Given the description of an element on the screen output the (x, y) to click on. 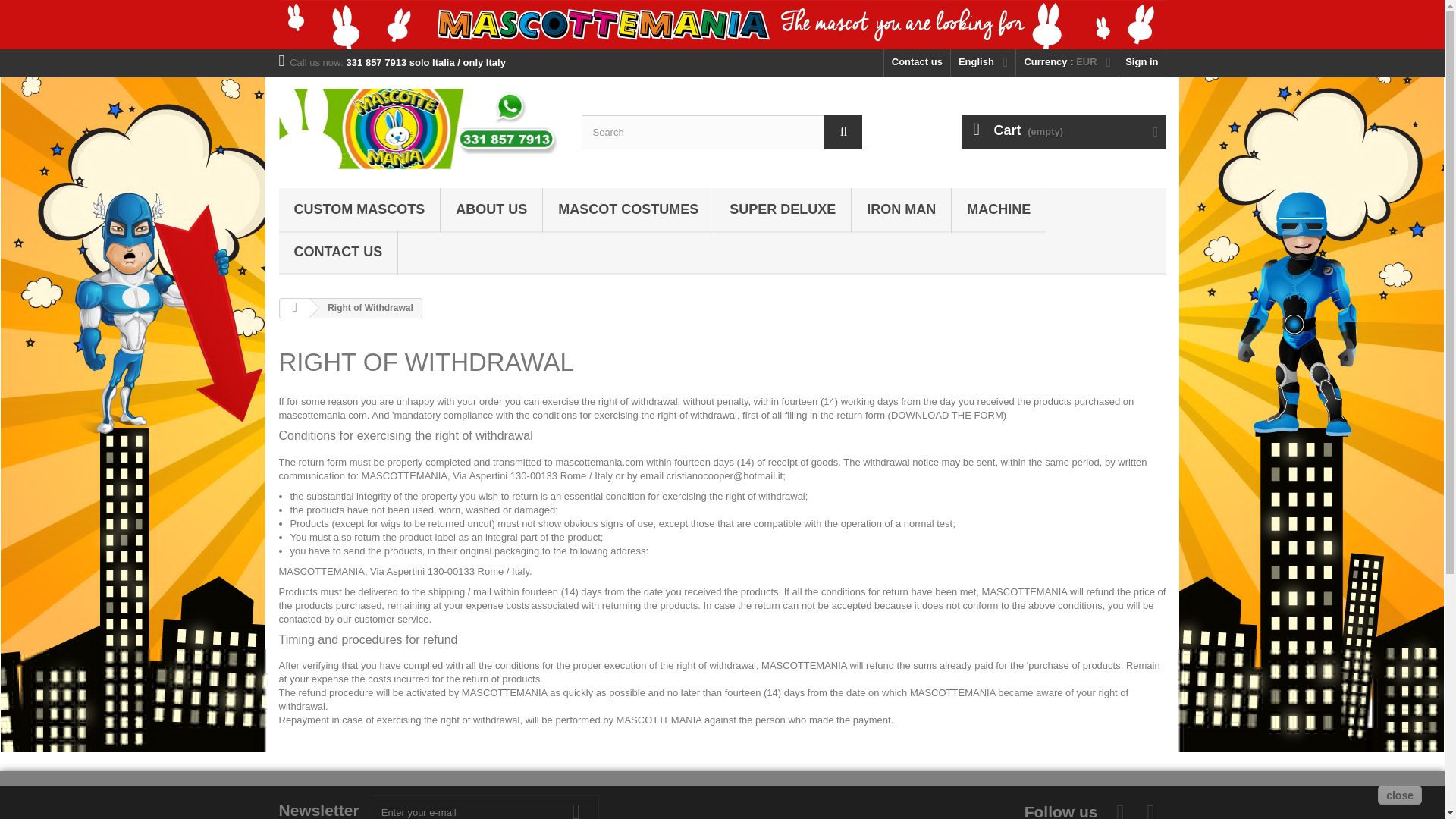
Mascottemania the mascot costumes you are looking for. (722, 24)
Enter your e-mail (484, 807)
CONTACT US (338, 252)
Sign in (1141, 62)
ABOUT US (491, 210)
CUSTOM MASCOTS (360, 210)
Contact us (916, 62)
About us (491, 210)
DOWNLOAD THE FORM (947, 414)
Custom Mascots (360, 210)
